Given the description of an element on the screen output the (x, y) to click on. 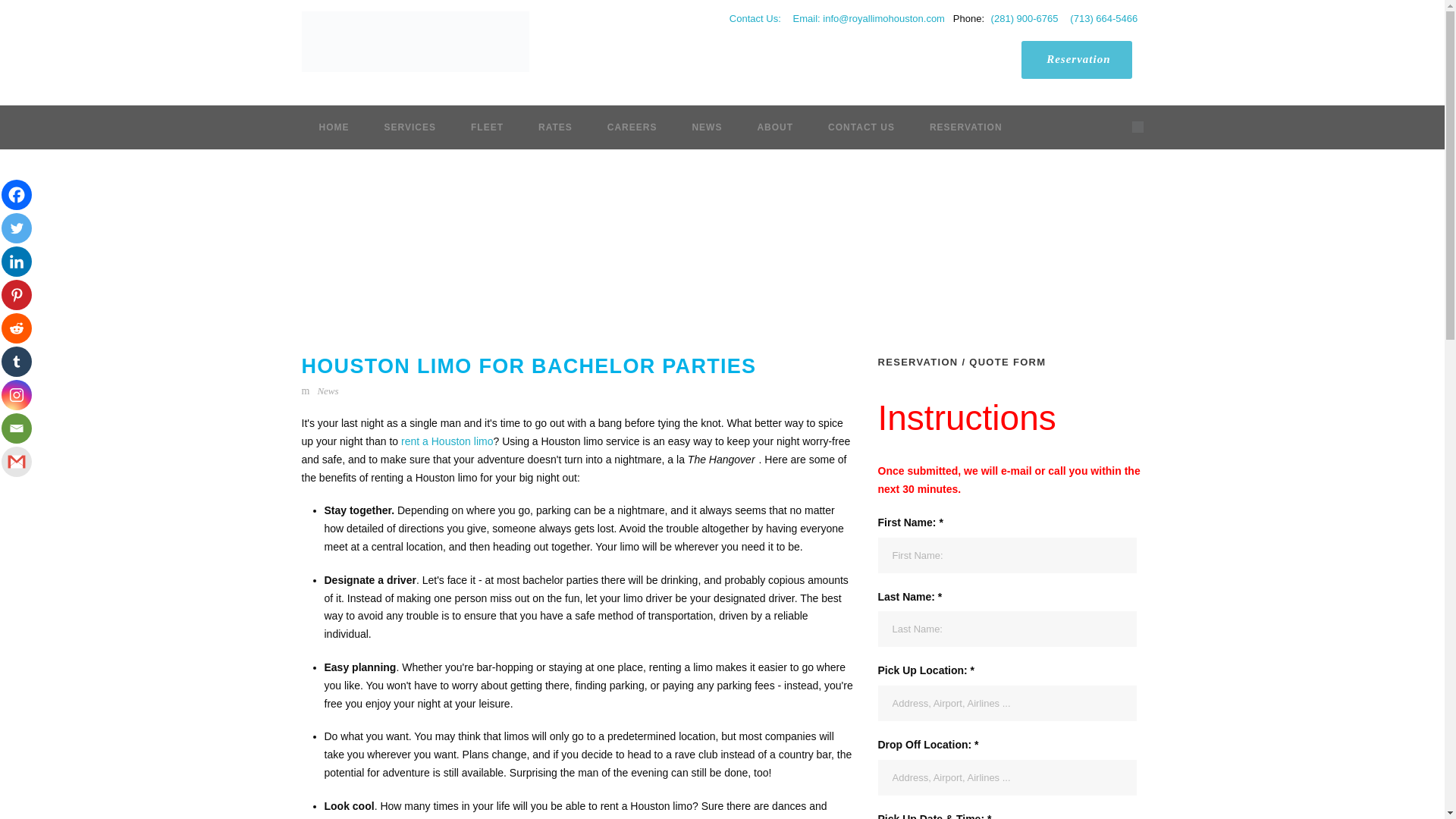
rent a limo in houston (445, 440)
Royal Limo - Contact Us (752, 18)
Reddit (16, 327)
Tumblr (16, 361)
Twitter (16, 227)
Email (16, 428)
Royal Limo - Email (866, 18)
Instagram (16, 395)
Linkedin (16, 261)
Google Gmail (16, 461)
